Given the description of an element on the screen output the (x, y) to click on. 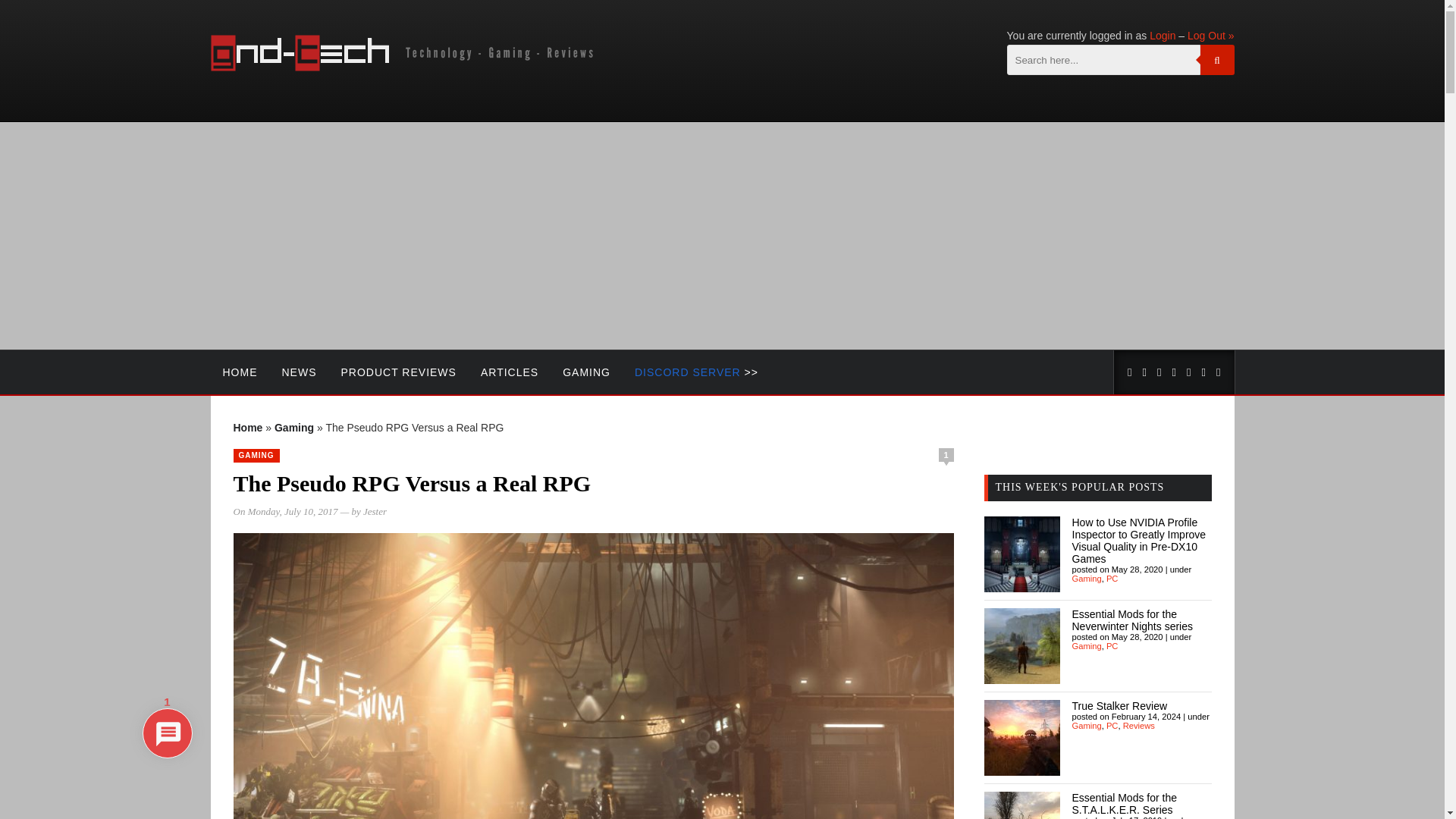
PRODUCT REVIEWS (398, 371)
NEWS (299, 371)
Technology enthusiasts, welcome! (405, 67)
HOME (240, 371)
Login (1162, 35)
